Given the description of an element on the screen output the (x, y) to click on. 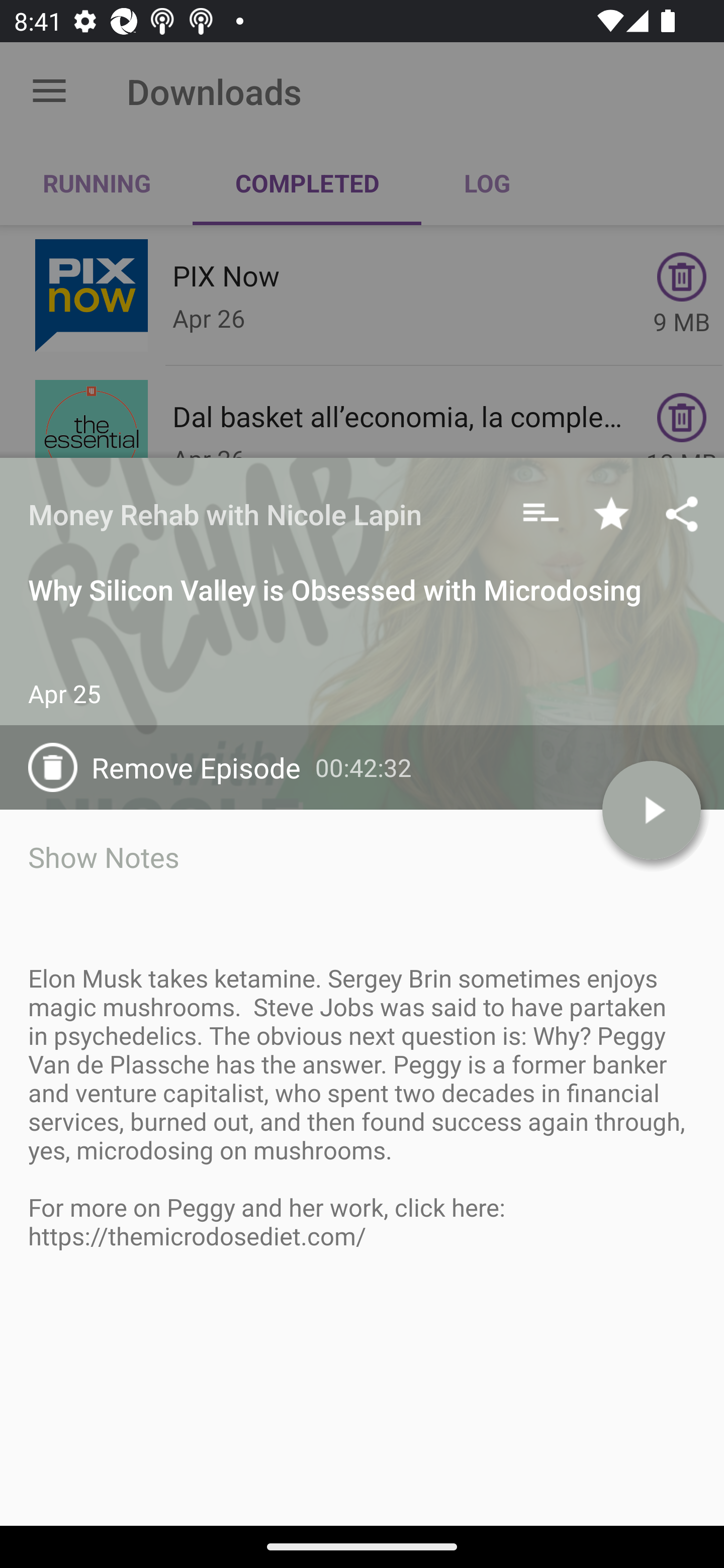
Remove Episode (171, 767)
